Given the description of an element on the screen output the (x, y) to click on. 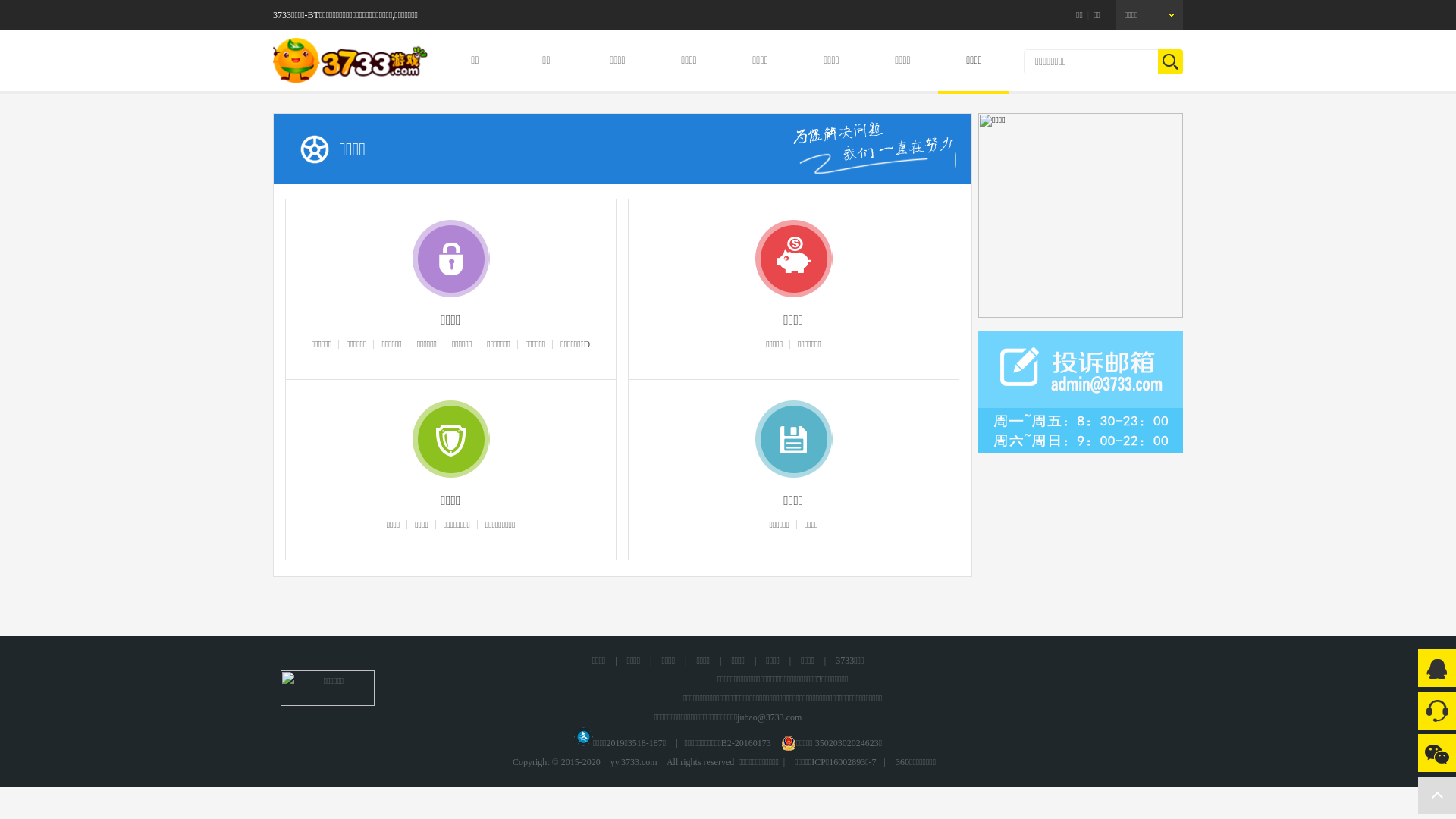
yy.3733.com Element type: text (633, 761)
